Given the description of an element on the screen output the (x, y) to click on. 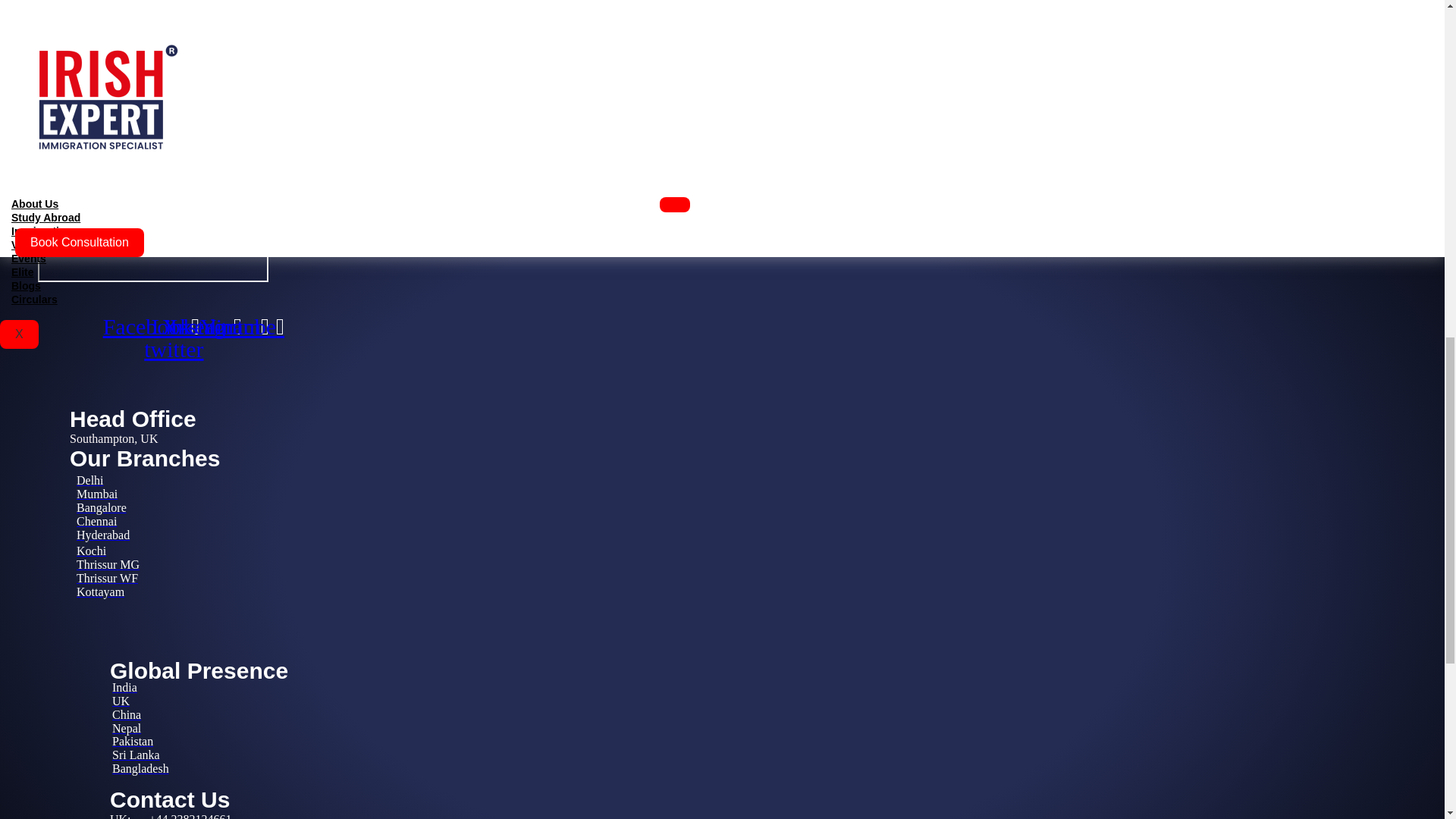
Mumbai (97, 493)
Hyderabad (103, 534)
Kochi (91, 550)
Irish Expert -Overseas (152, 188)
Bangalore (101, 507)
Youtube (241, 326)
China (126, 714)
Sri Lanka (136, 754)
Pakistan (132, 740)
X-twitter (172, 337)
Linkedin (196, 326)
India (124, 686)
Nepal (126, 727)
Facebook (150, 326)
UK (120, 700)
